Given the description of an element on the screen output the (x, y) to click on. 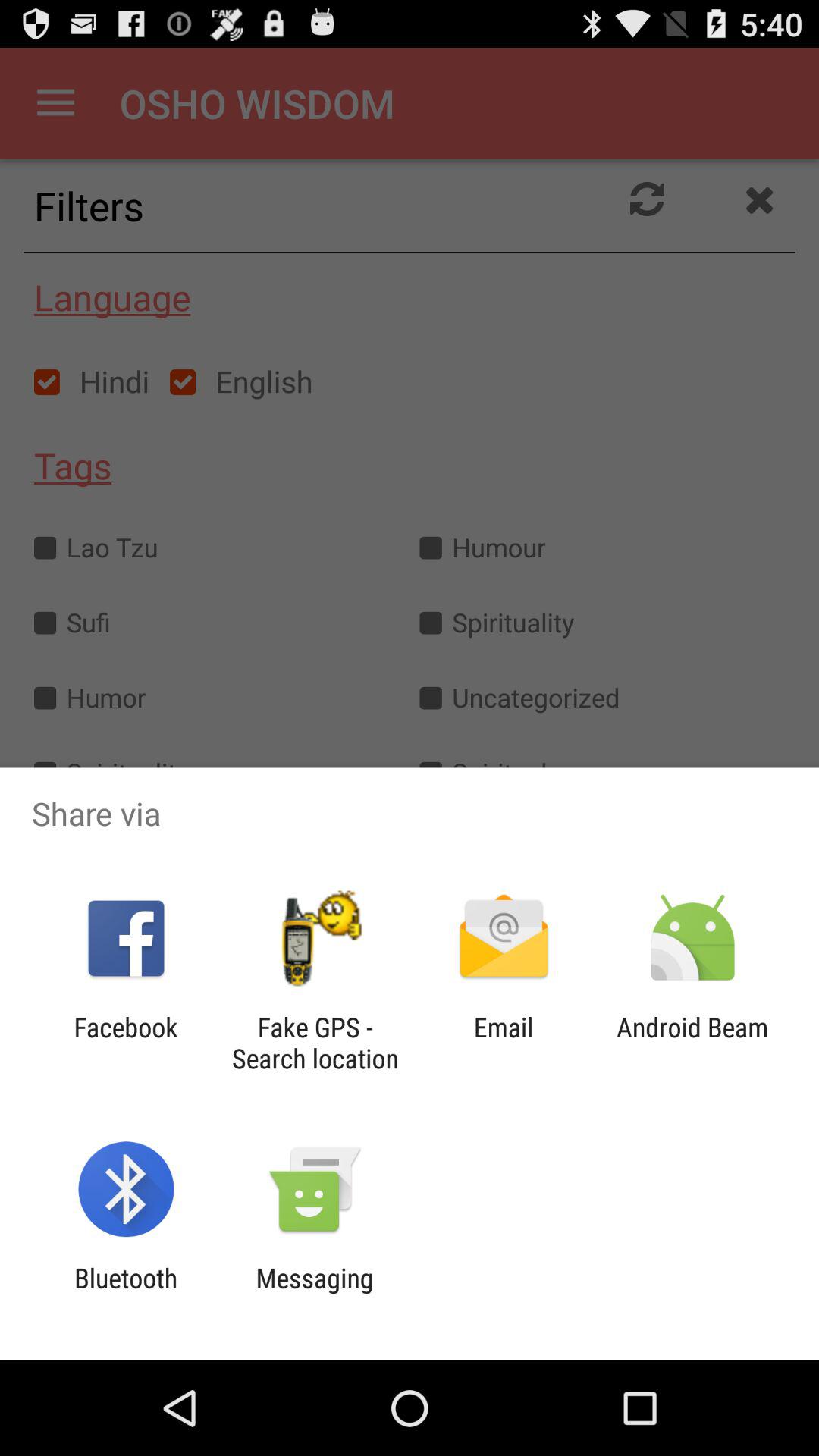
turn off the icon to the right of the email icon (692, 1042)
